Given the description of an element on the screen output the (x, y) to click on. 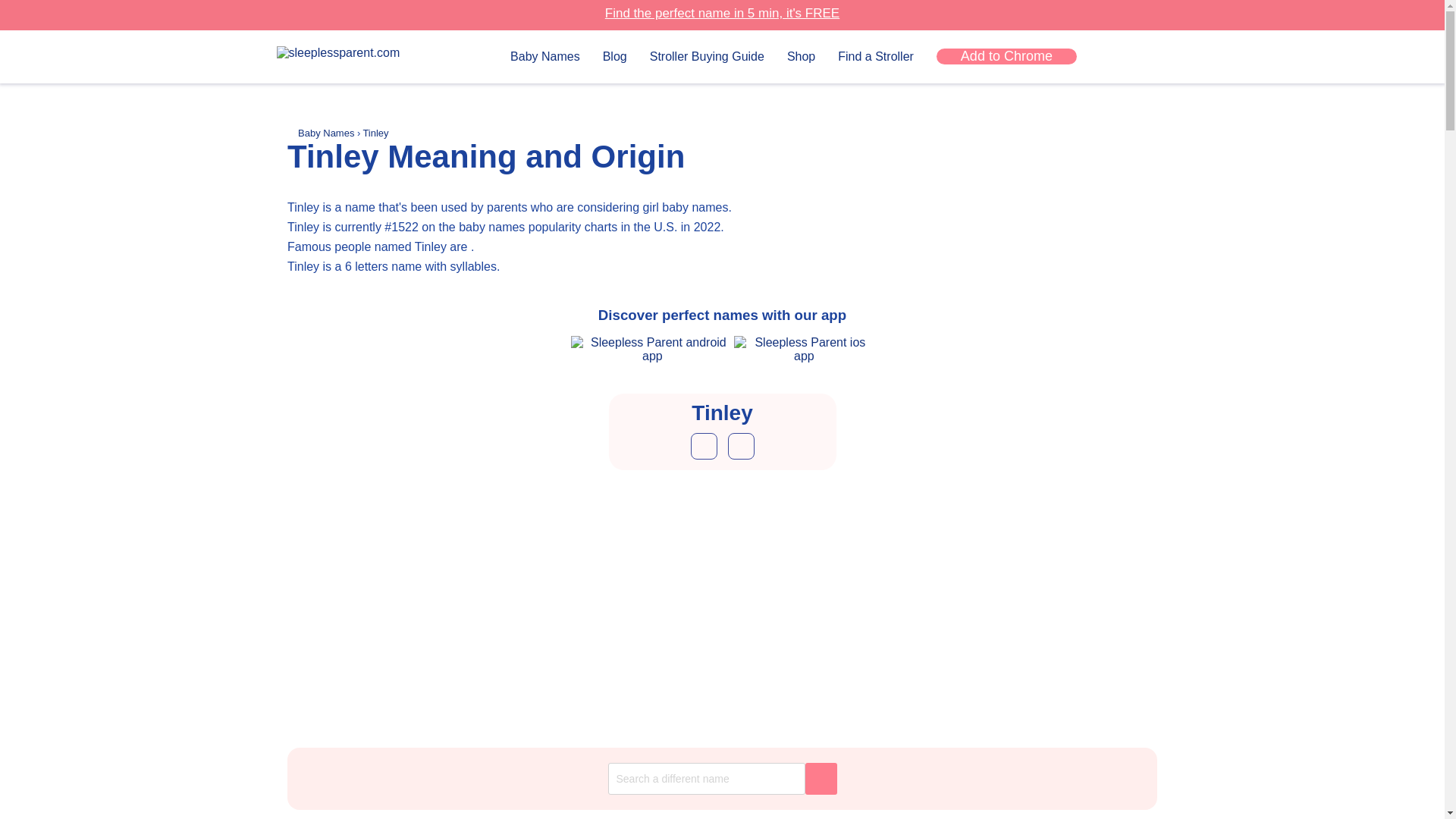
SleeplessParent android app (651, 349)
Find a Stroller (876, 56)
Add to Chrome (1006, 56)
Blog (614, 56)
Shop (801, 56)
home page (352, 52)
sleeplessparent.com (337, 52)
SleeplessParent ios app (803, 349)
Tinley (375, 132)
Baby Names (327, 132)
